Given the description of an element on the screen output the (x, y) to click on. 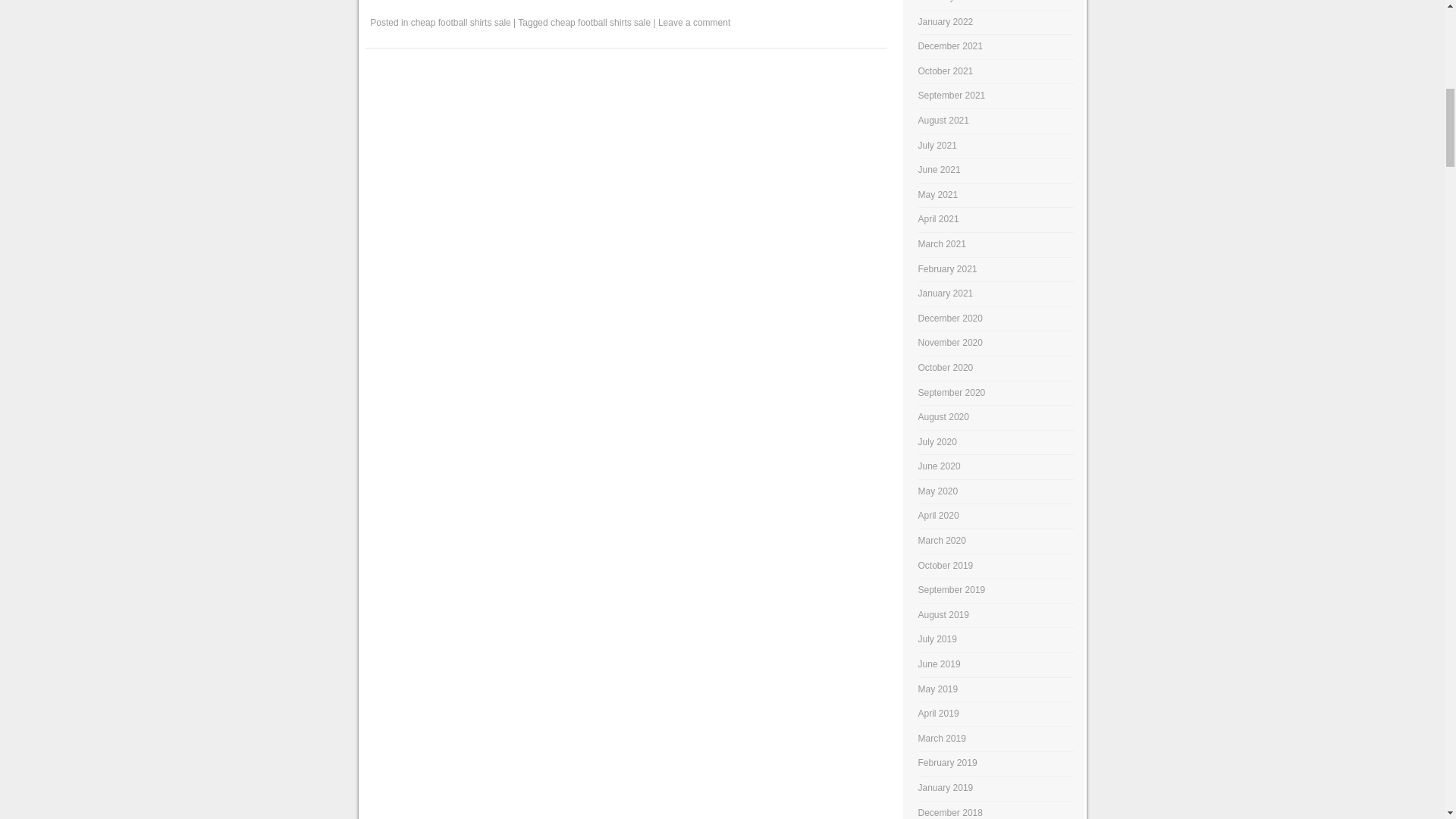
February 2022 (947, 1)
December 2021 (950, 45)
January 2022 (946, 21)
cheap football shirts sale (600, 22)
October 2021 (946, 71)
August 2021 (943, 120)
cheap football shirts sale (460, 22)
September 2021 (951, 95)
Leave a comment (694, 22)
